Given the description of an element on the screen output the (x, y) to click on. 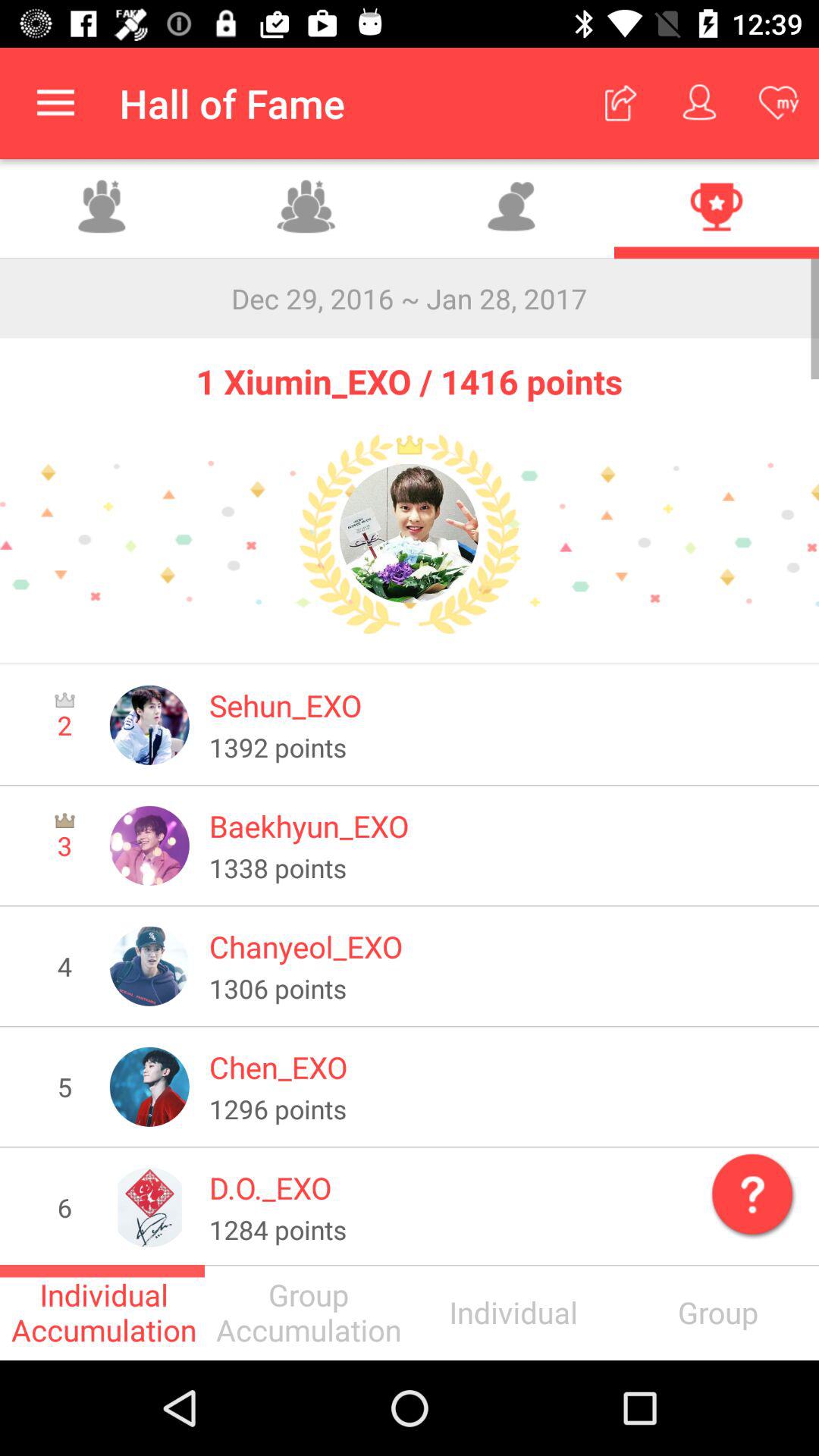
turn off the icon next to individual accumulation item (306, 1312)
